Given the description of an element on the screen output the (x, y) to click on. 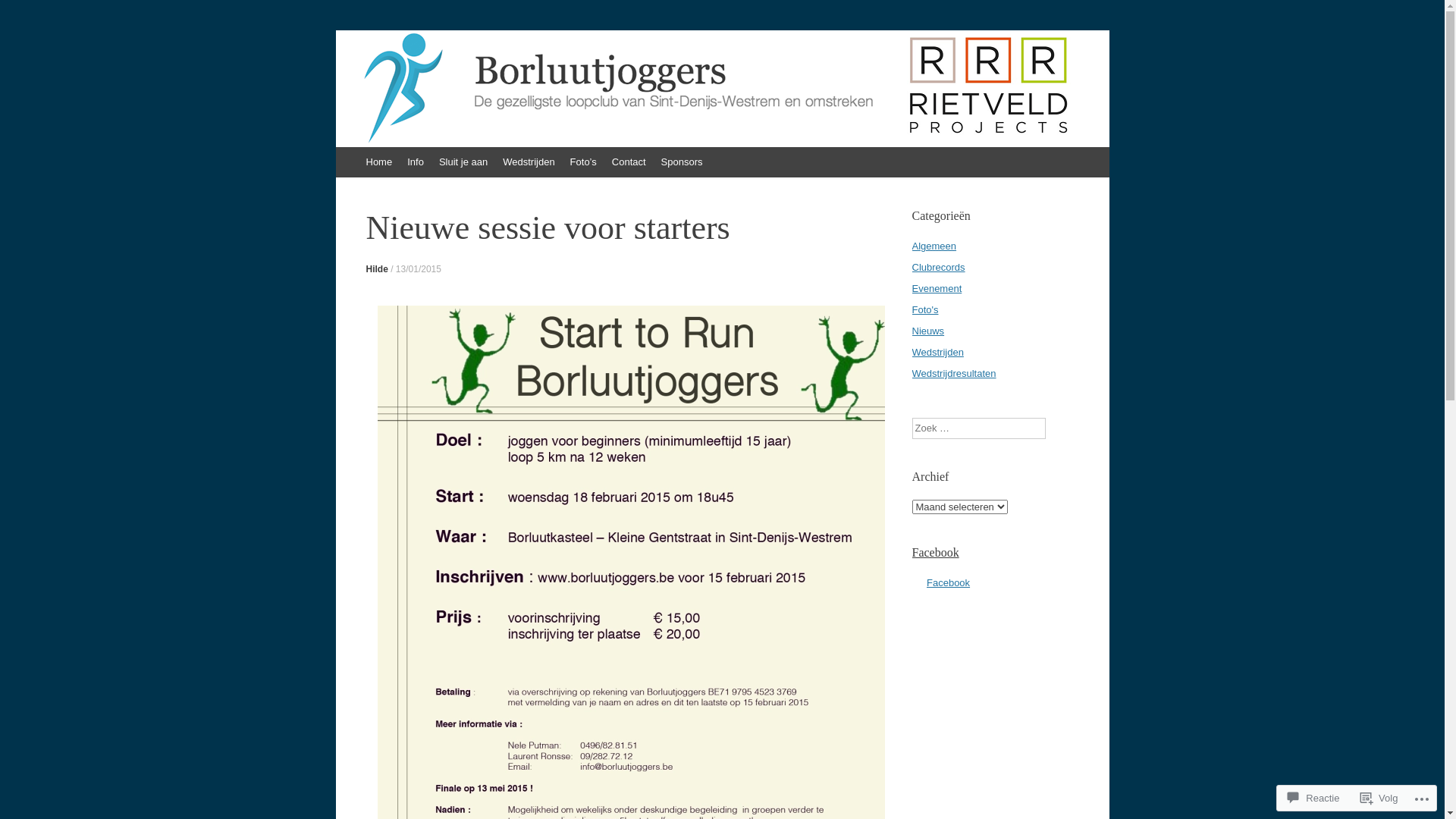
Hilde Element type: text (376, 268)
Wedstrijdresultaten Element type: text (953, 373)
Clubrecords Element type: text (937, 267)
Evenement Element type: text (936, 288)
Wedstrijden Element type: text (937, 351)
Volg Element type: text (1378, 797)
Reactie Element type: text (1313, 797)
Algemeen Element type: text (933, 245)
Facebook Element type: text (947, 582)
Nieuws Element type: text (927, 330)
Zoeken Element type: text (23, 15)
Foto's Element type: text (924, 309)
Sponsors Element type: text (681, 162)
Borluutjoggers Element type: text (442, 81)
13/01/2015 Element type: text (418, 268)
Info Element type: text (415, 162)
Home Element type: text (378, 162)
Facebook Element type: text (934, 552)
Contact Element type: text (628, 162)
Wedstrijden Element type: text (528, 162)
Sluit je aan Element type: text (463, 162)
